Given the description of an element on the screen output the (x, y) to click on. 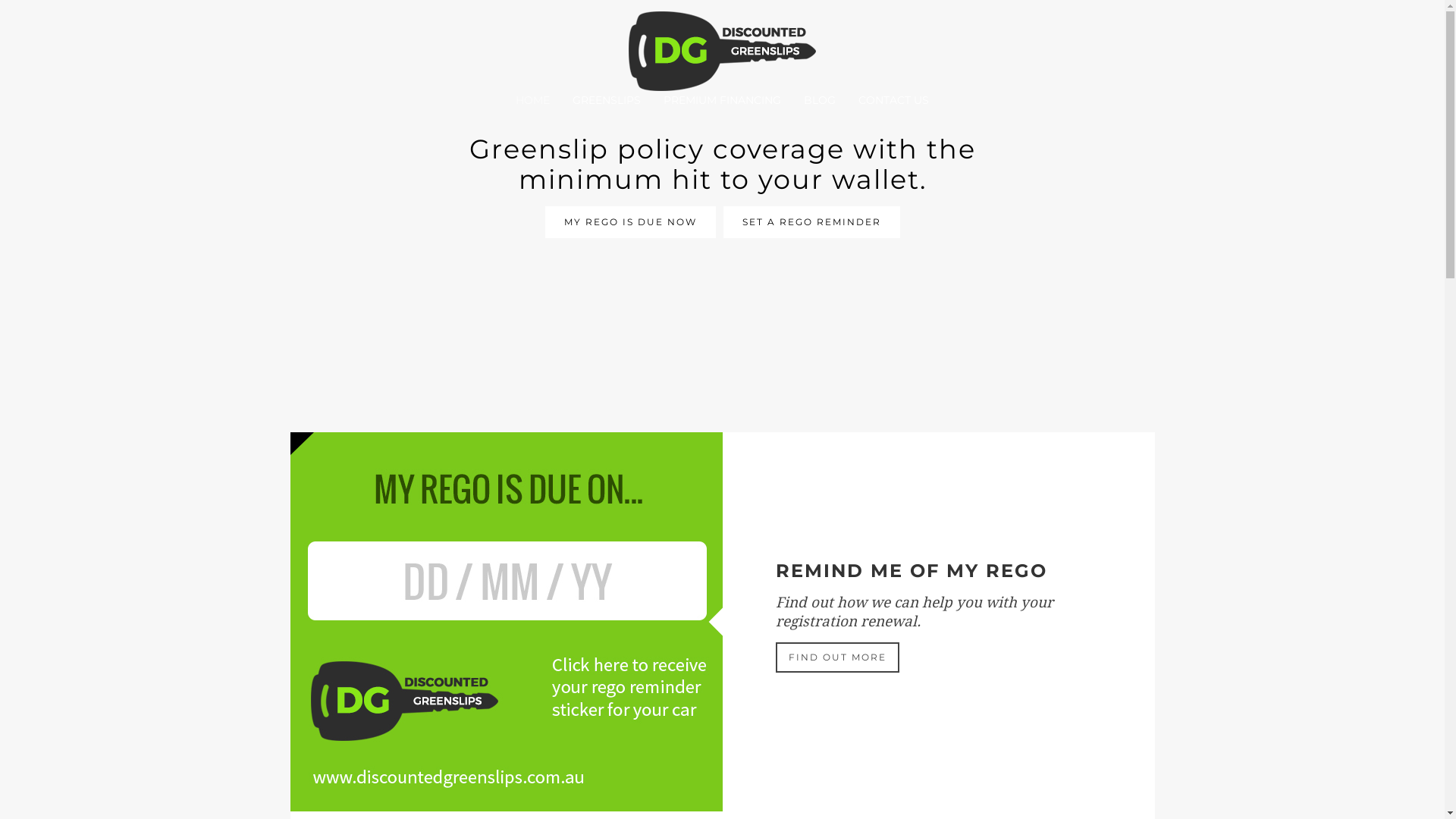
SET A REGO REMINDER Element type: text (811, 222)
GREENSLIPS Element type: text (606, 99)
REMIND ME OF MY REGO Element type: hover (505, 621)
CONTACT US Element type: text (893, 99)
FIND OUT MORE Element type: text (836, 656)
REMIND ME OF MY REGO Element type: text (910, 570)
BLOG Element type: text (819, 99)
PREMIUM FINANCING Element type: text (722, 99)
MY REGO IS DUE NOW Element type: text (629, 222)
HOME Element type: text (532, 99)
